Given the description of an element on the screen output the (x, y) to click on. 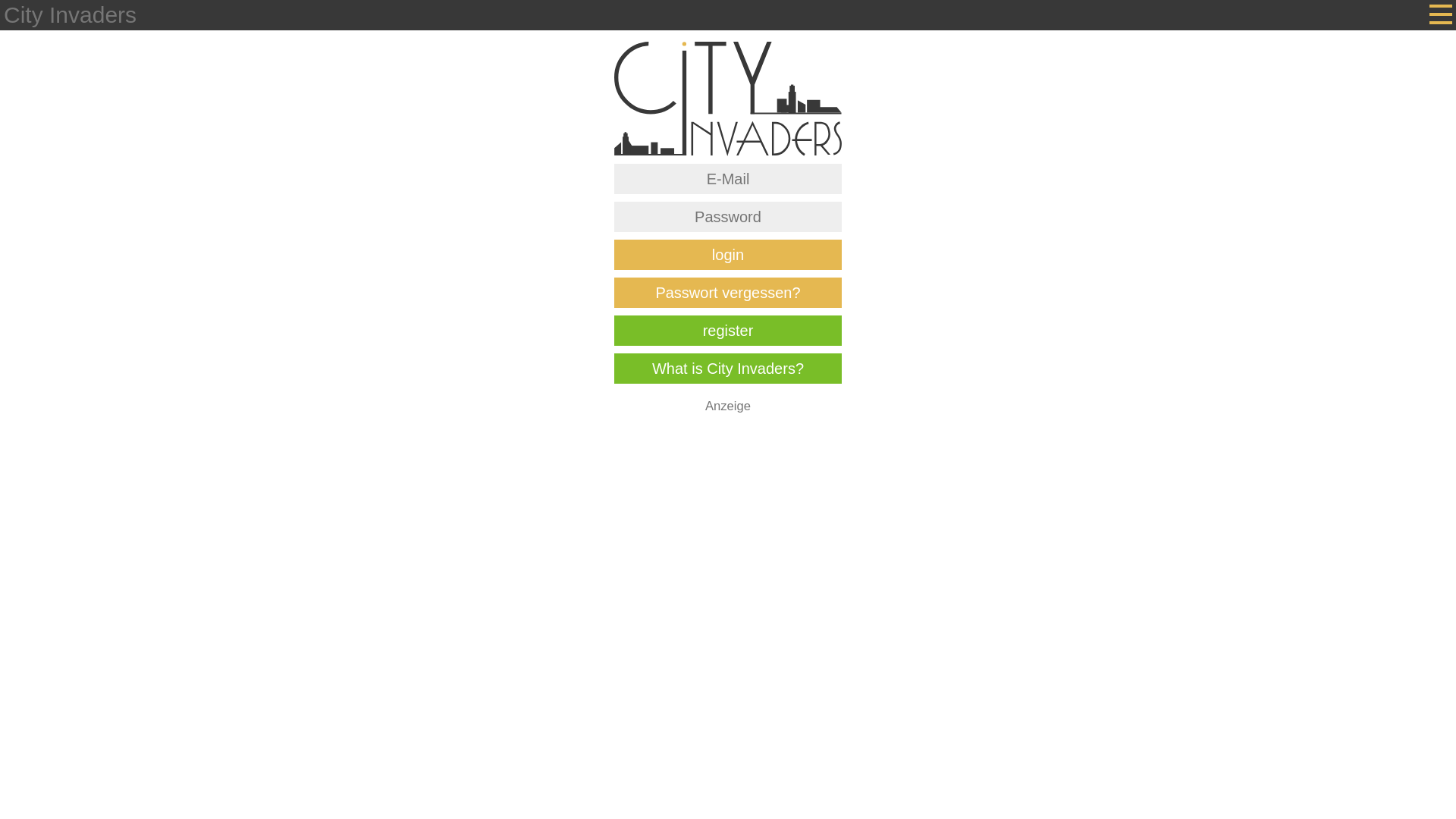
City Invaders Element type: text (69, 14)
login Element type: text (727, 254)
What is City Invaders? Element type: text (727, 368)
Passwort vergessen? Element type: text (727, 292)
register Element type: text (727, 330)
